Given the description of an element on the screen output the (x, y) to click on. 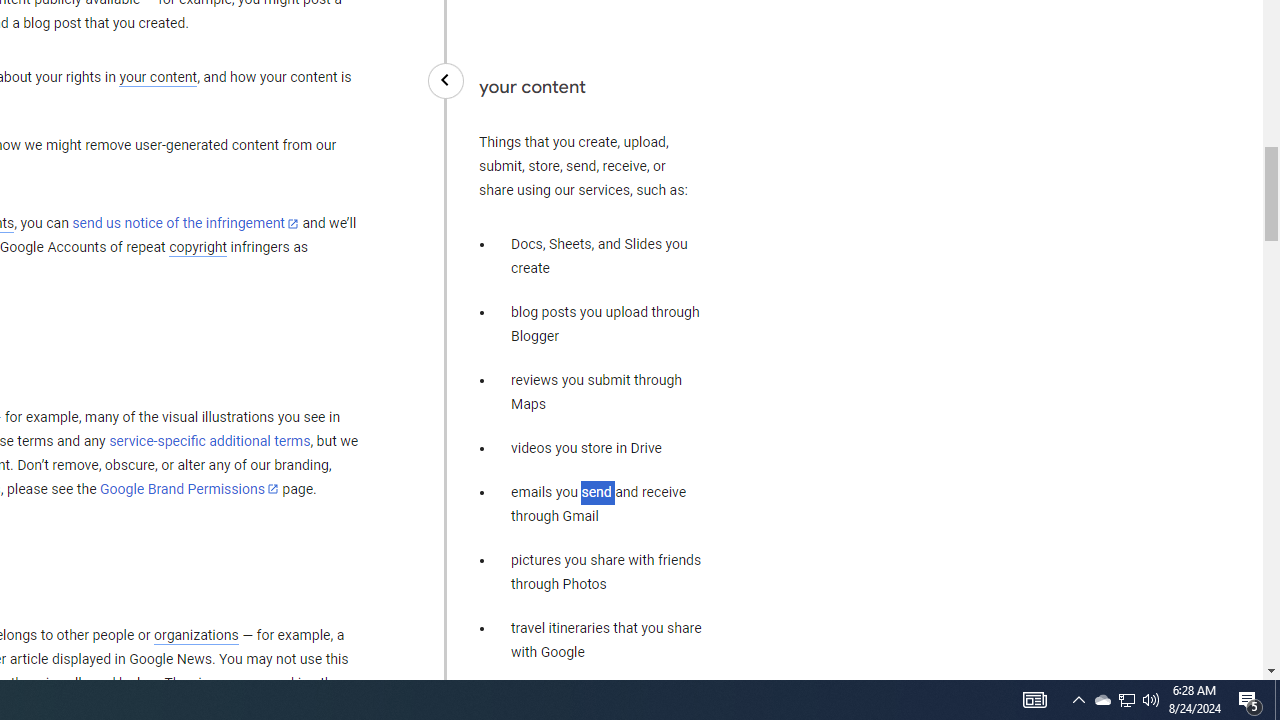
copyright (197, 248)
organizations (196, 635)
send us notice of the infringement (185, 224)
your content (158, 78)
service-specific additional terms (209, 441)
Google Brand Permissions (189, 489)
